Given the description of an element on the screen output the (x, y) to click on. 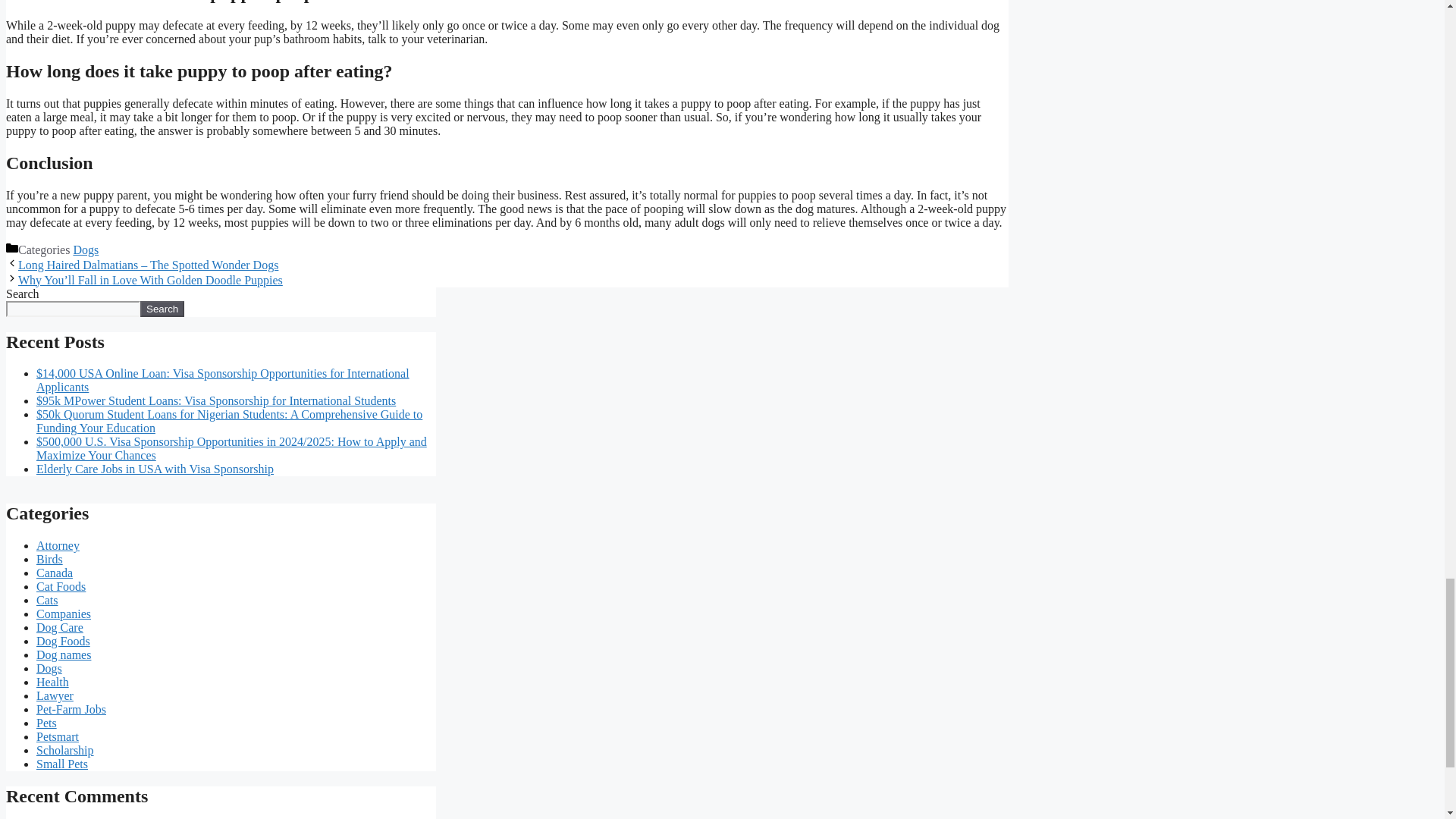
Dog Care (59, 626)
Canada (54, 572)
Dogs (85, 249)
Dogs (49, 667)
Pet-Farm Jobs (71, 708)
Pets (46, 722)
Elderly Care Jobs in USA with Visa Sponsorship (154, 468)
Search (161, 308)
Birds (49, 558)
Health (52, 681)
